Given the description of an element on the screen output the (x, y) to click on. 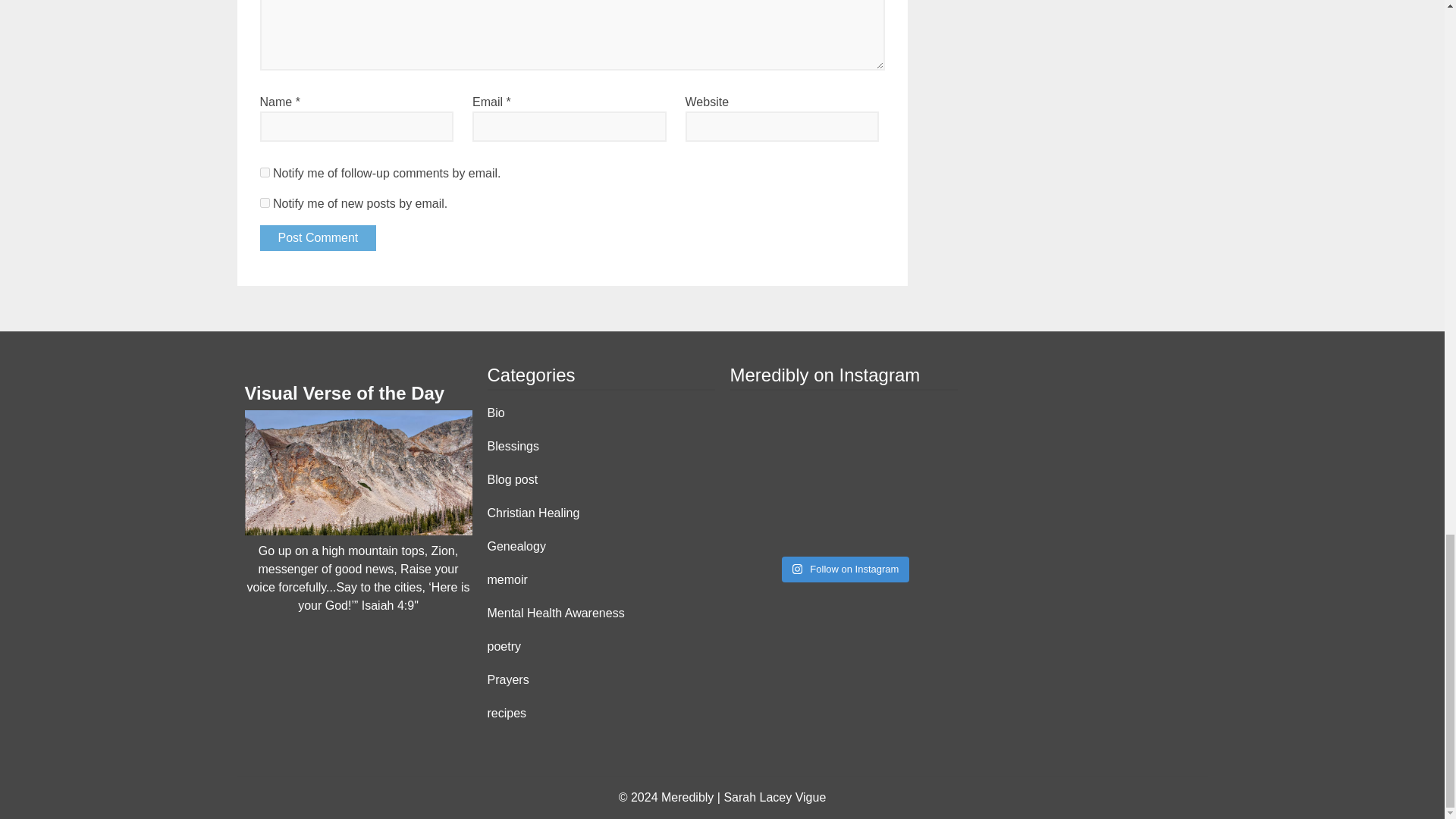
subscribe (264, 203)
Post Comment (317, 237)
subscribe (264, 172)
